Given the description of an element on the screen output the (x, y) to click on. 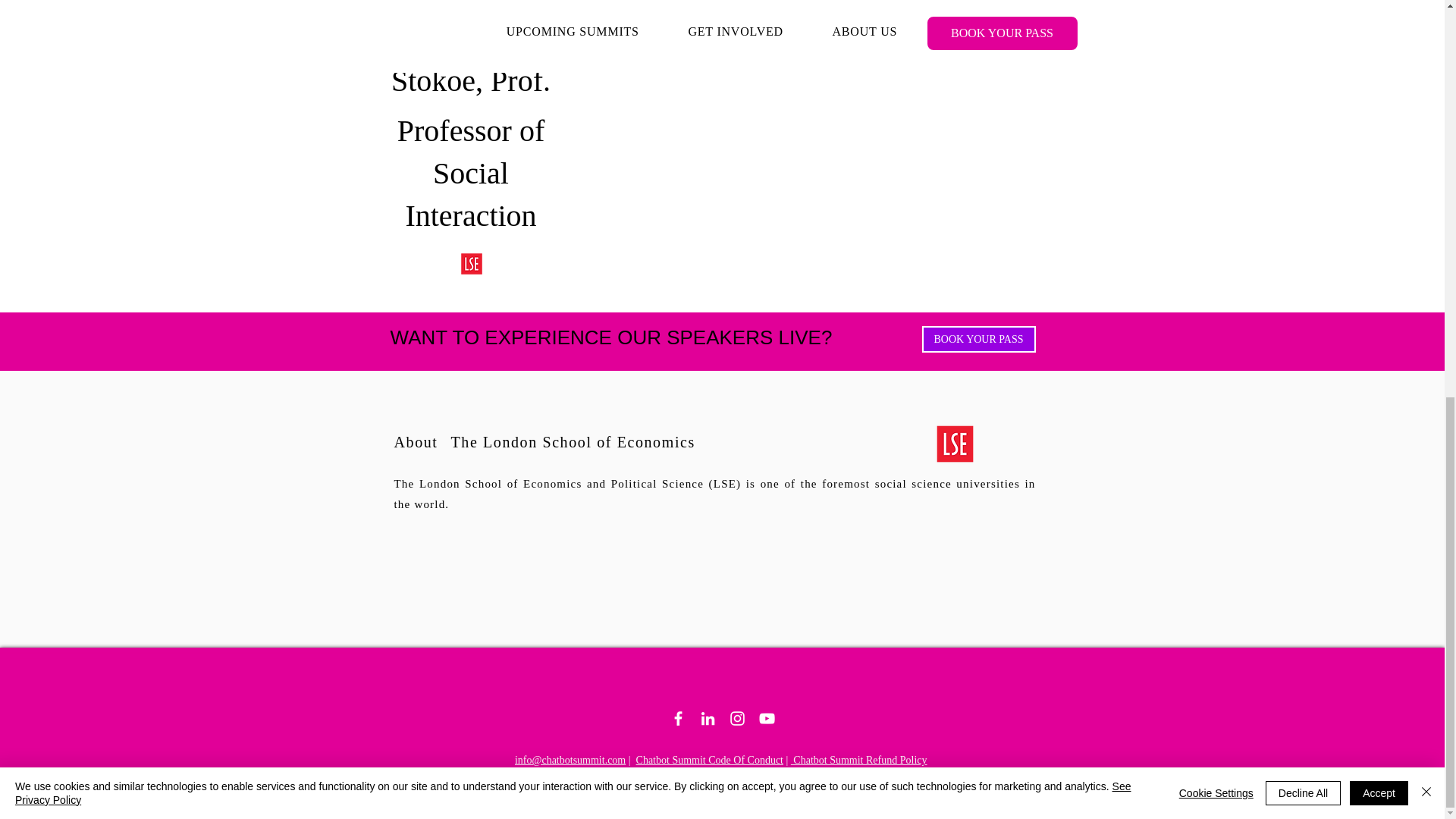
Elizabeth Stokoe, Prof. (471, 2)
 Chatbot Summit Refund Policy (858, 759)
BOOK YOUR PASS (978, 338)
Accept (1378, 21)
Chatbot Summit Code Of Conduct (709, 759)
LSE logo - 450x150px.png (954, 443)
LSE logo - 450x150px.png (471, 263)
Privacy Policy (811, 772)
Terms and Conditions (899, 772)
See Privacy Policy (572, 21)
Decline All (1302, 21)
